Given the description of an element on the screen output the (x, y) to click on. 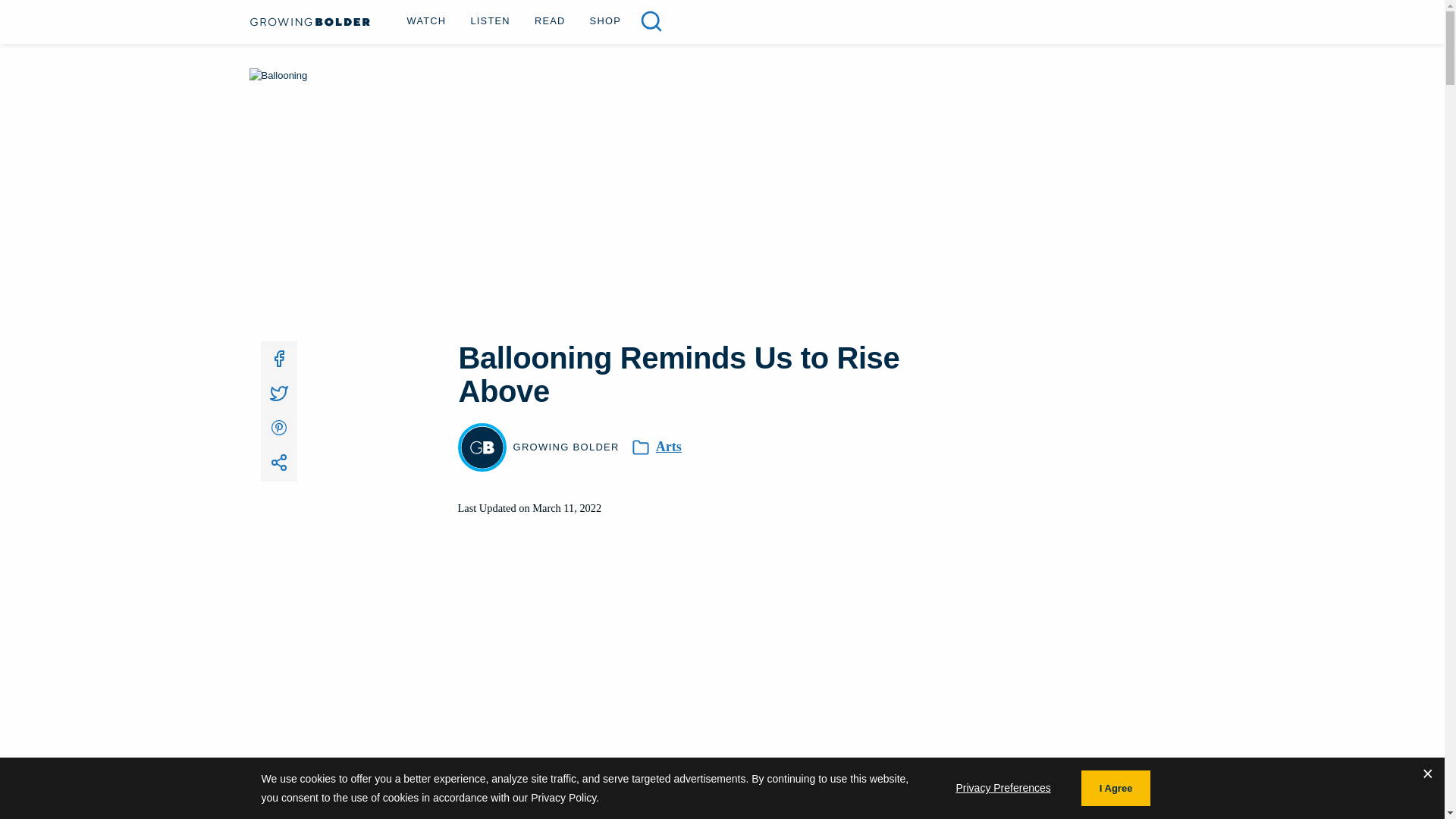
Link to:          (278, 463)
Search (651, 22)
WATCH (426, 20)
LISTEN (489, 20)
Search (39, 15)
Link to: Arts (668, 446)
Link to: Listen (489, 20)
SHOP (605, 20)
READ (550, 20)
